Given the description of an element on the screen output the (x, y) to click on. 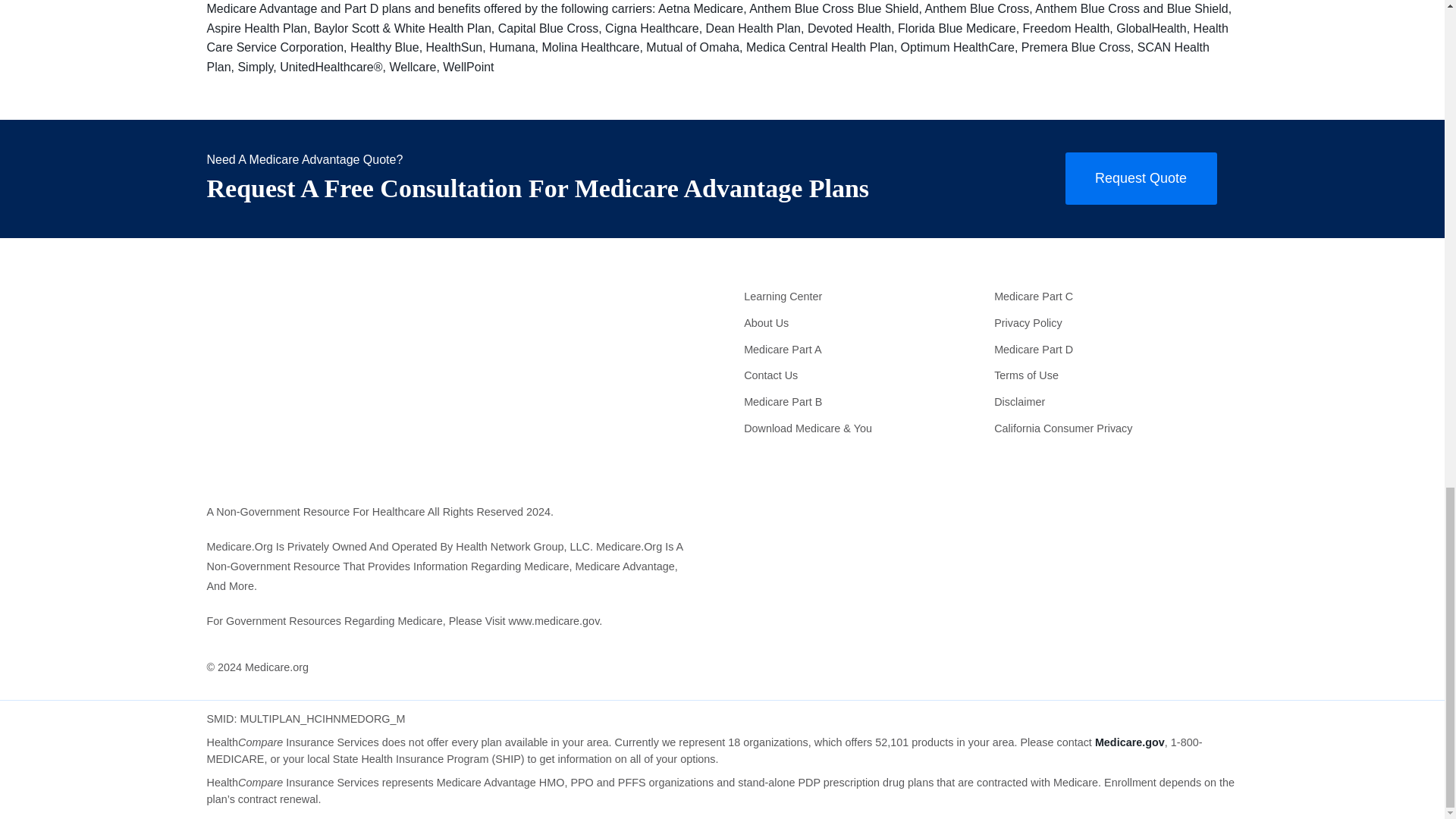
Medicare Part A (861, 348)
Privacy Policy (1112, 323)
Terms of Use (1112, 375)
Request Quote (1139, 178)
Contact Us (861, 375)
Medicare Part B (861, 402)
Medicare Part D (1112, 348)
Learning Center (861, 296)
About Us (861, 323)
Medicare Part C (1112, 296)
